Given the description of an element on the screen output the (x, y) to click on. 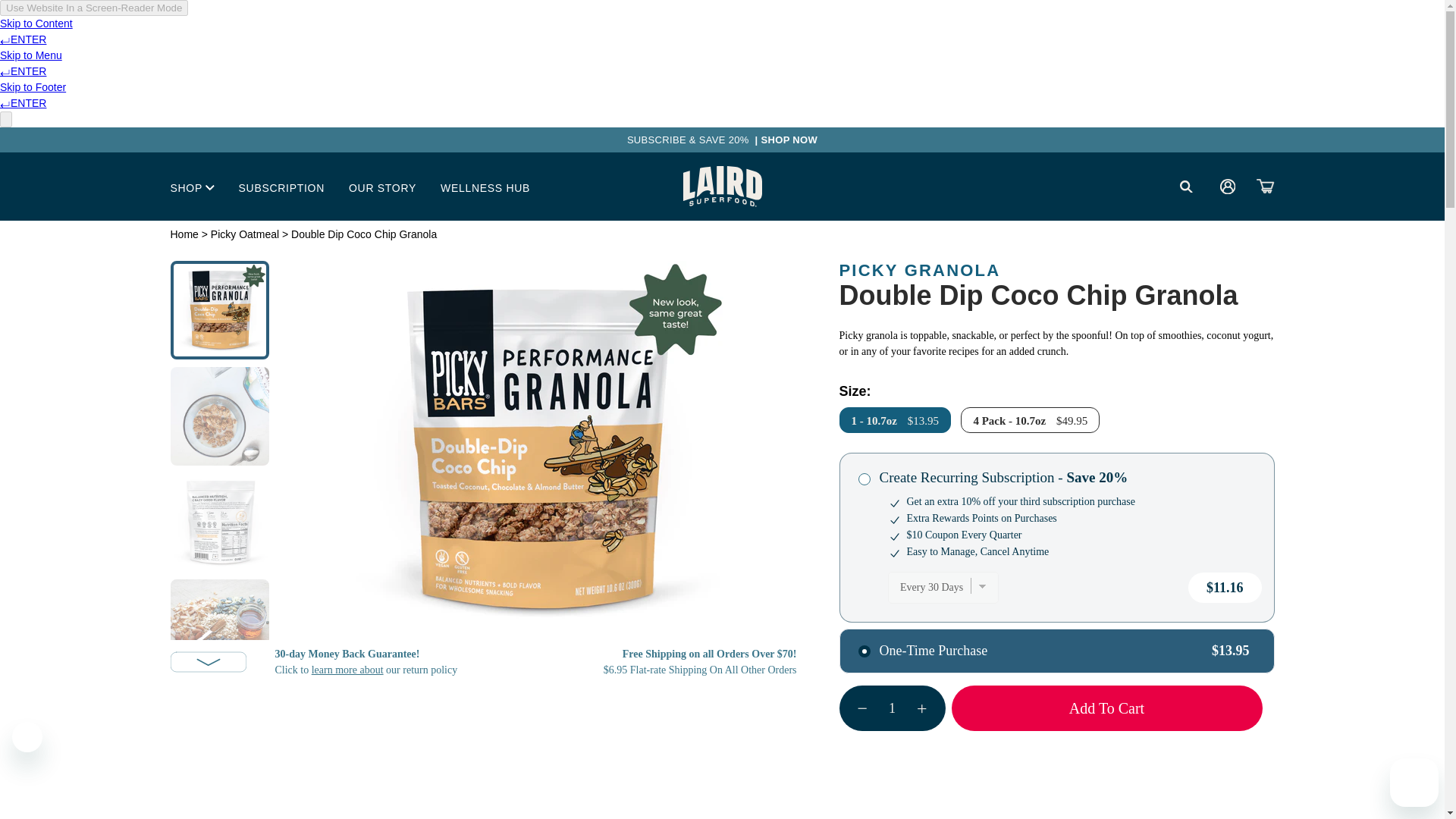
Add to Cart (1106, 708)
SUBSCRIPTION (281, 186)
Home (184, 234)
subscription (864, 479)
one-time (864, 651)
SHOP (192, 186)
1 (892, 707)
OUR STORY (382, 186)
WELLNESS HUB (485, 186)
